Given the description of an element on the screen output the (x, y) to click on. 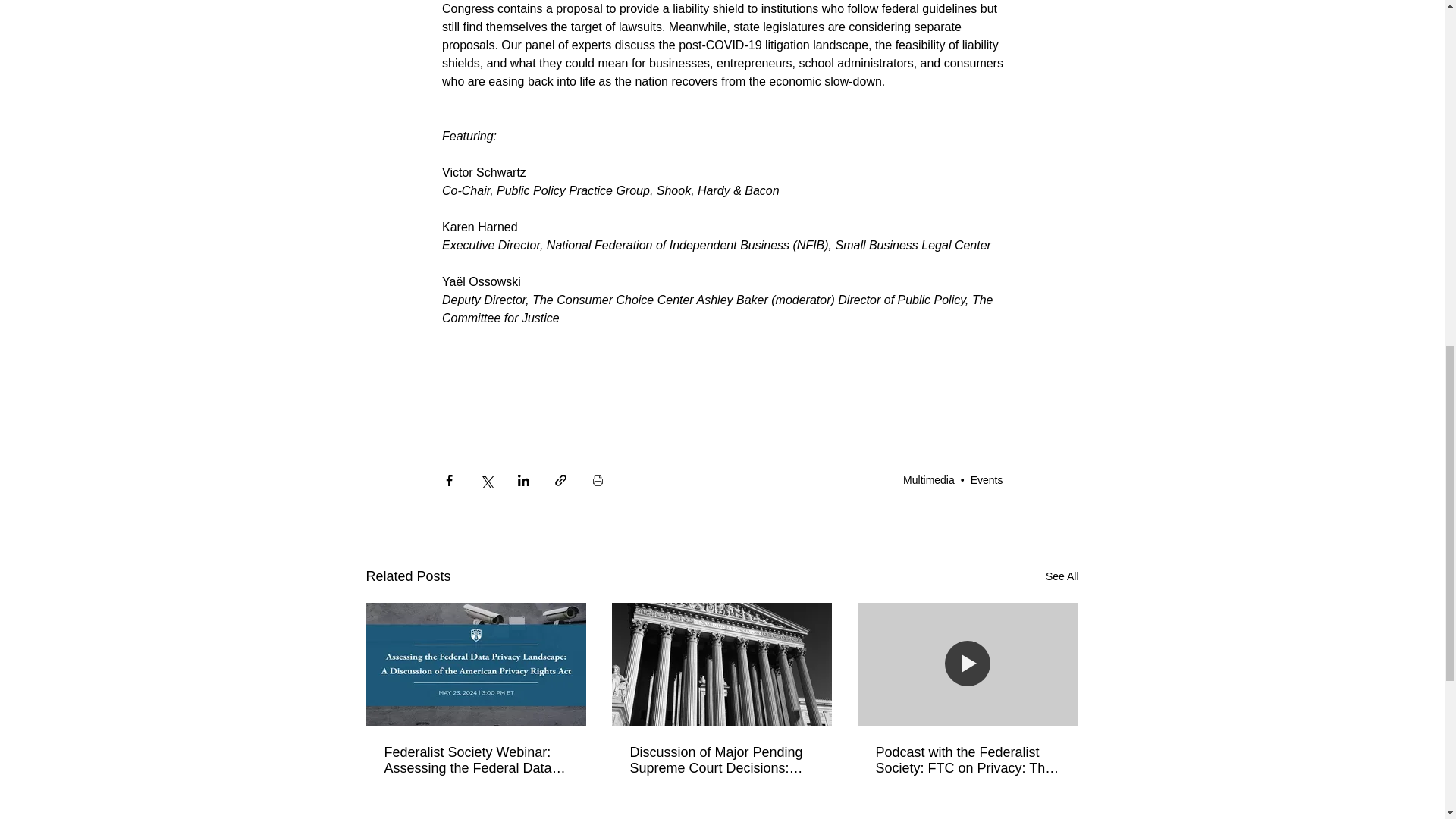
See All (1061, 576)
Multimedia (928, 480)
Events (987, 480)
